Given the description of an element on the screen output the (x, y) to click on. 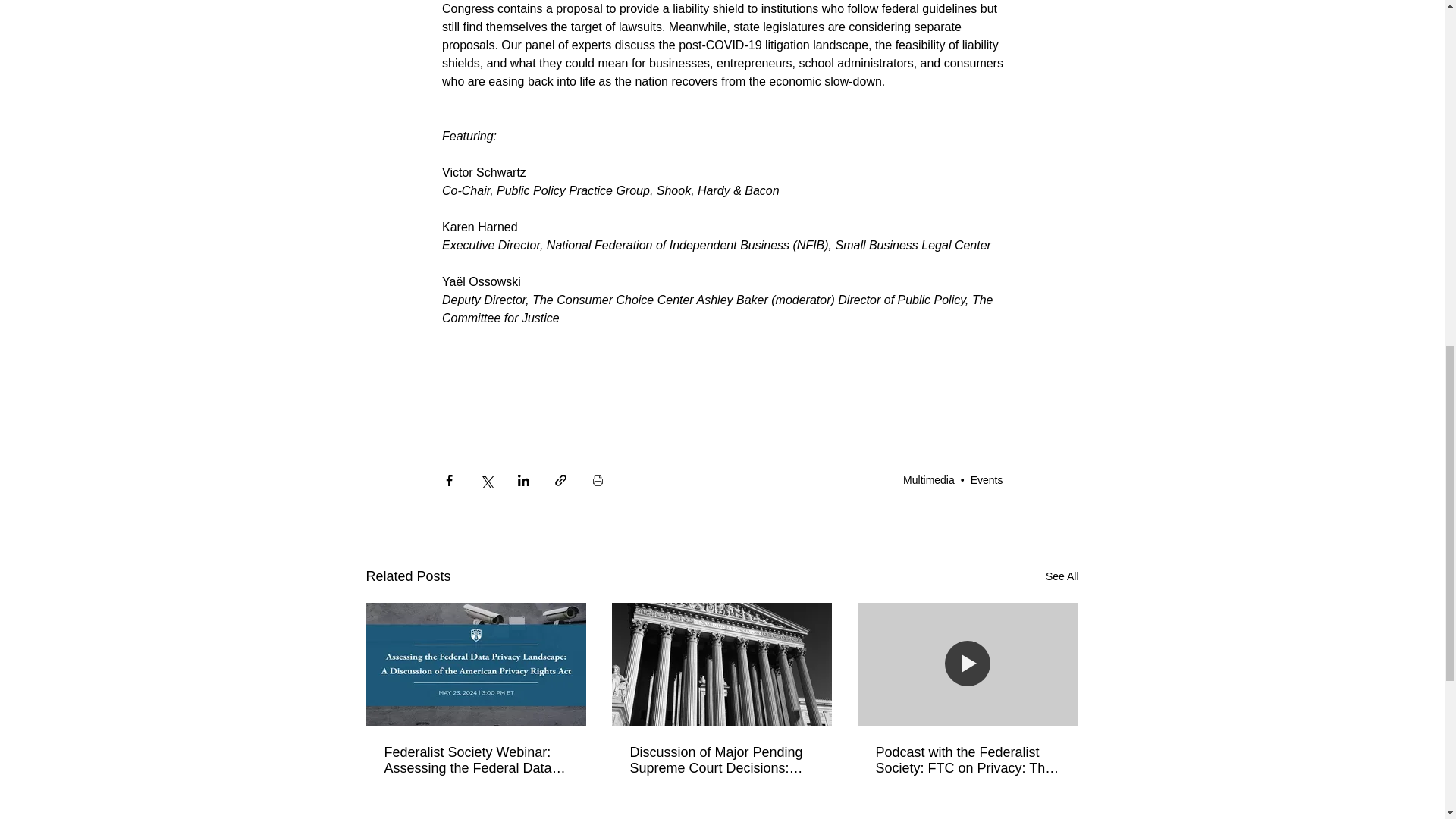
See All (1061, 576)
Multimedia (928, 480)
Events (987, 480)
